Given the description of an element on the screen output the (x, y) to click on. 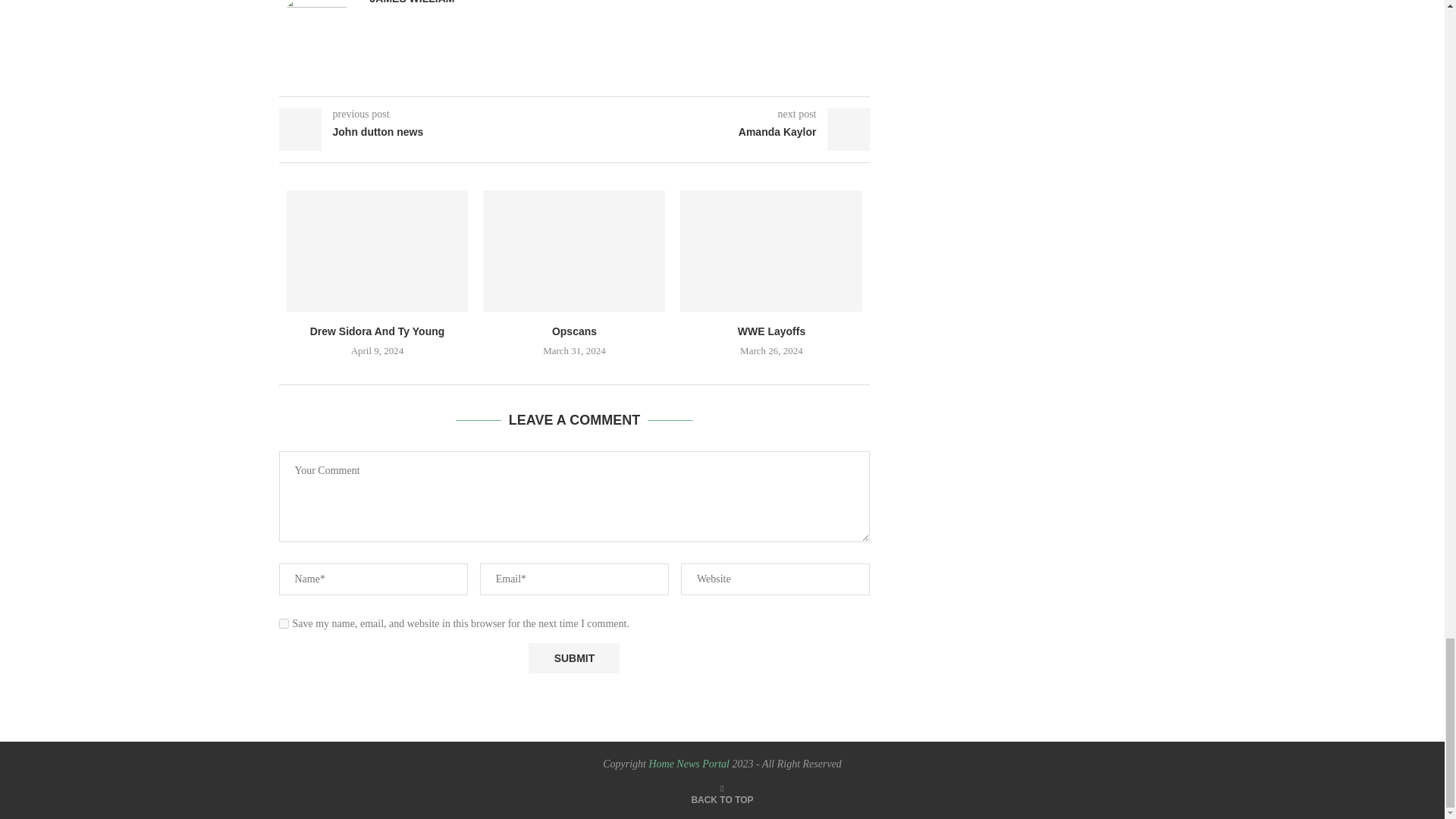
Opscans (574, 251)
Drew Sidora And Ty Young (377, 251)
Author James William (411, 2)
WWE Layoffs (770, 251)
Submit (574, 657)
yes (283, 623)
